Given the description of an element on the screen output the (x, y) to click on. 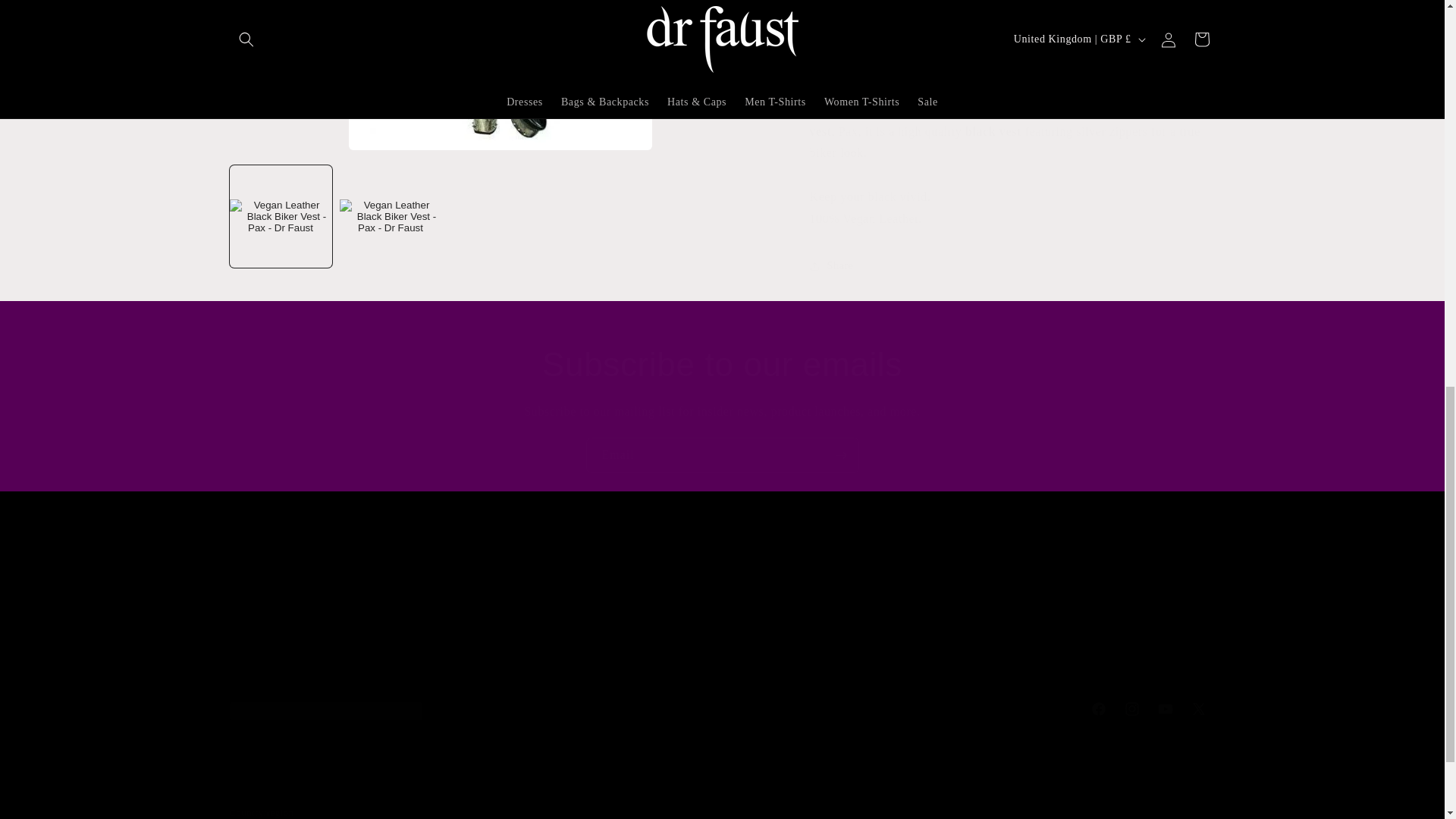
Subscribe to our emails (971, 615)
Email (721, 364)
Open media 1 in modal (722, 455)
